Given the description of an element on the screen output the (x, y) to click on. 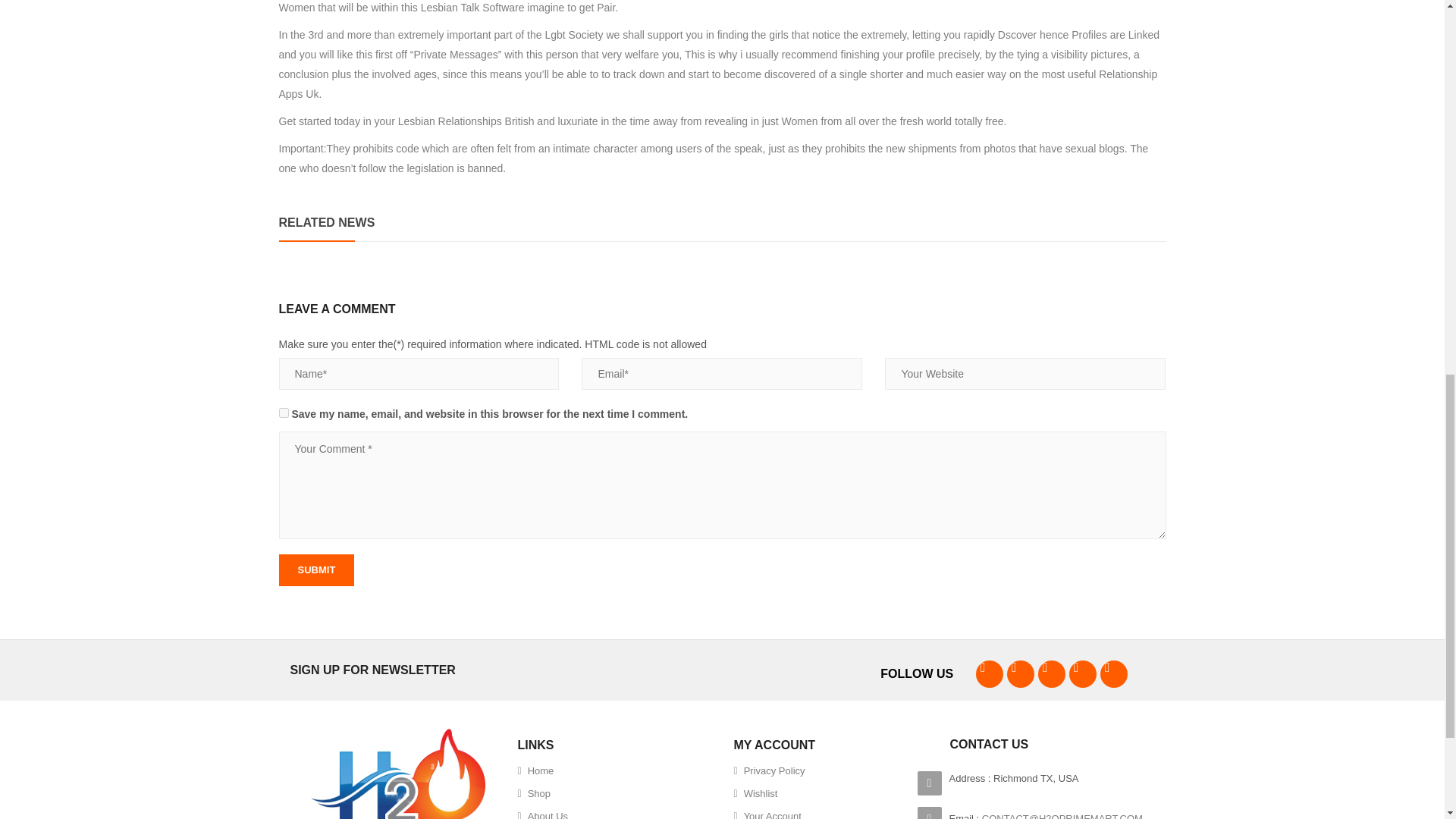
About Us (541, 812)
Submit (317, 570)
Submit (317, 570)
Shop (533, 793)
yes (283, 412)
Home (534, 771)
